Given the description of an element on the screen output the (x, y) to click on. 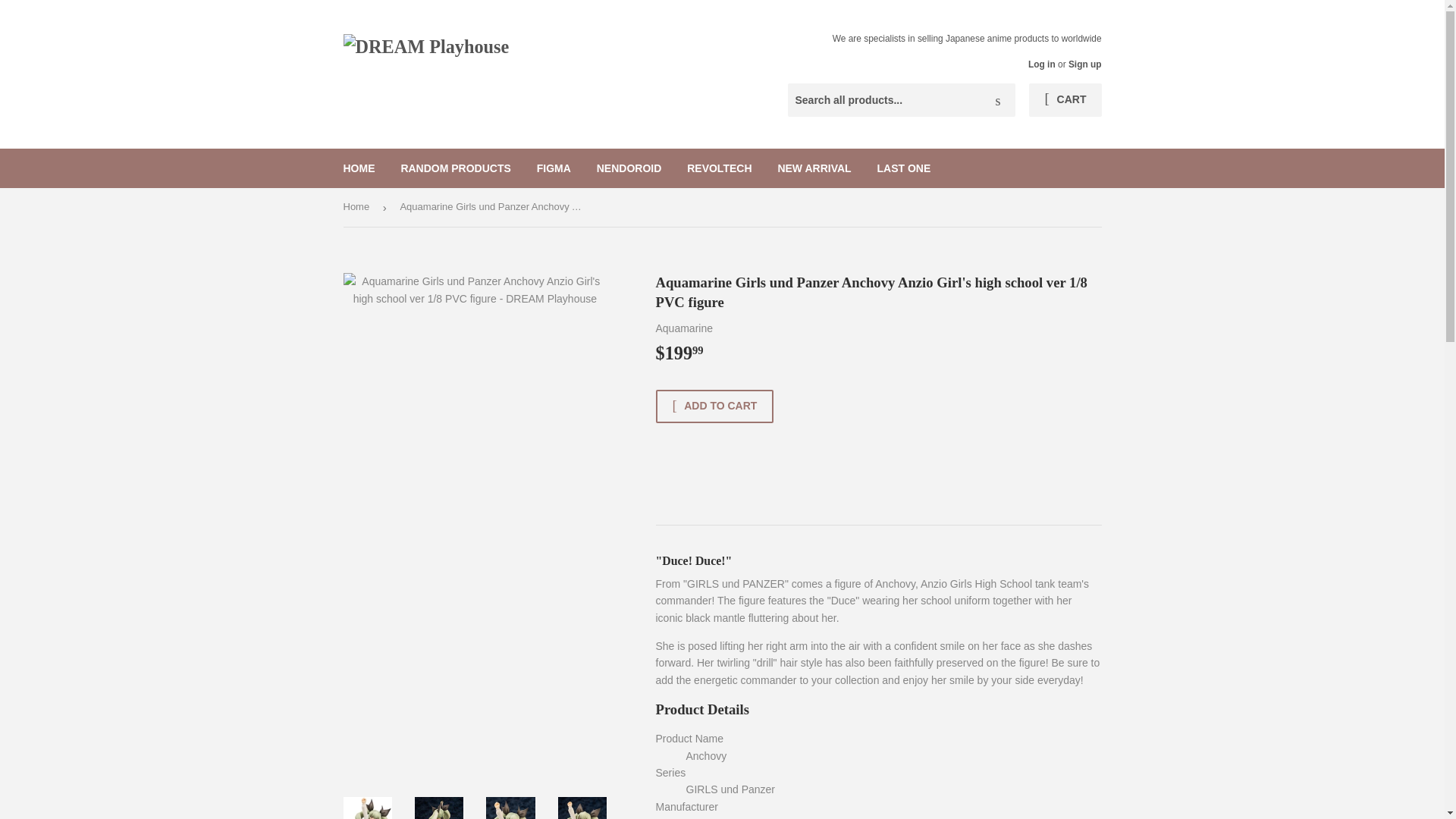
ADD TO CART (714, 406)
NENDOROID (628, 168)
HOME (359, 168)
Log in (1041, 63)
RANDOM PRODUCTS (454, 168)
REVOLTECH (718, 168)
Sign up (1085, 63)
LAST ONE (904, 168)
CART (1064, 100)
Search (997, 101)
